Given the description of an element on the screen output the (x, y) to click on. 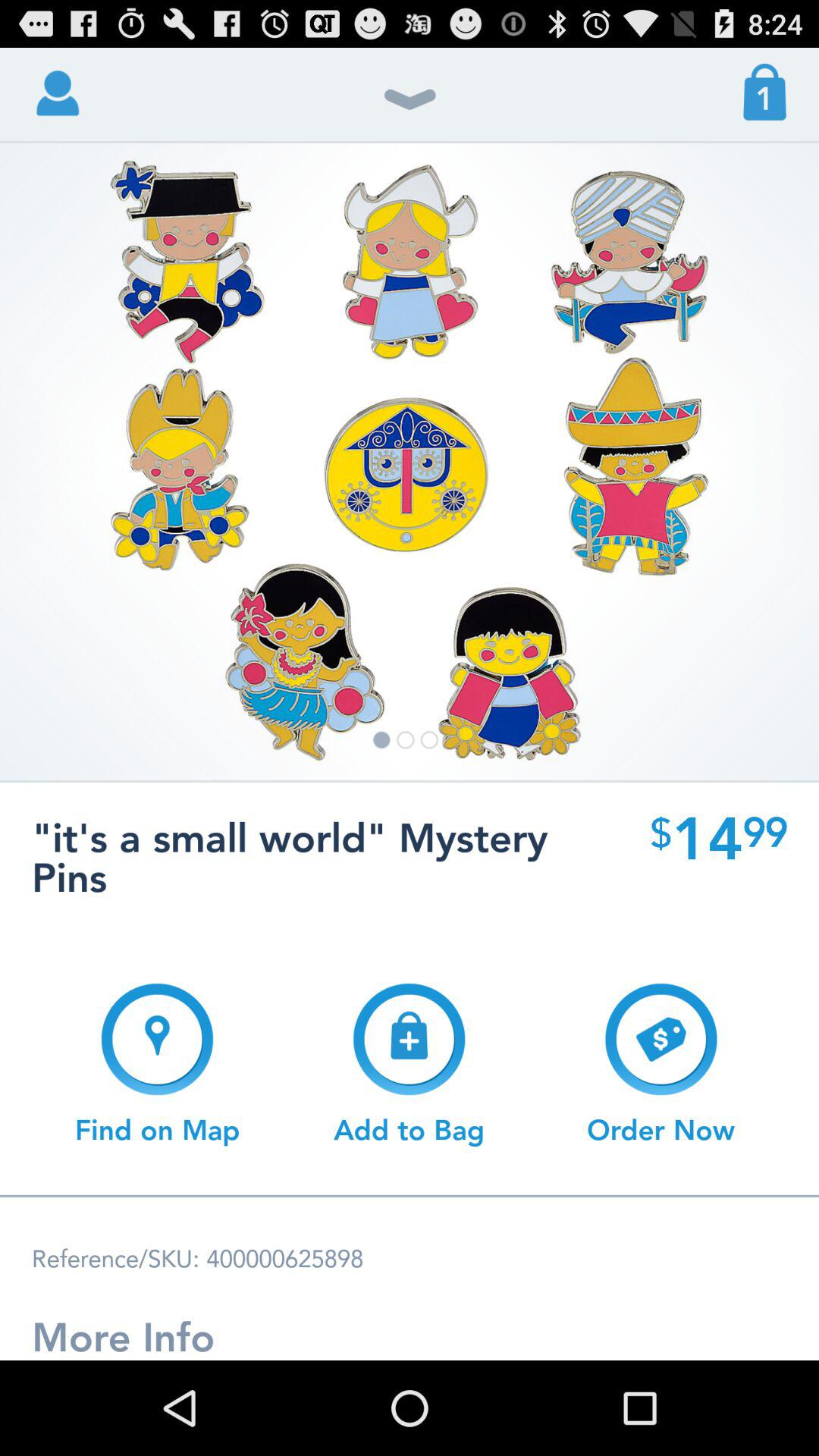
flip to find on map button (157, 1064)
